Given the description of an element on the screen output the (x, y) to click on. 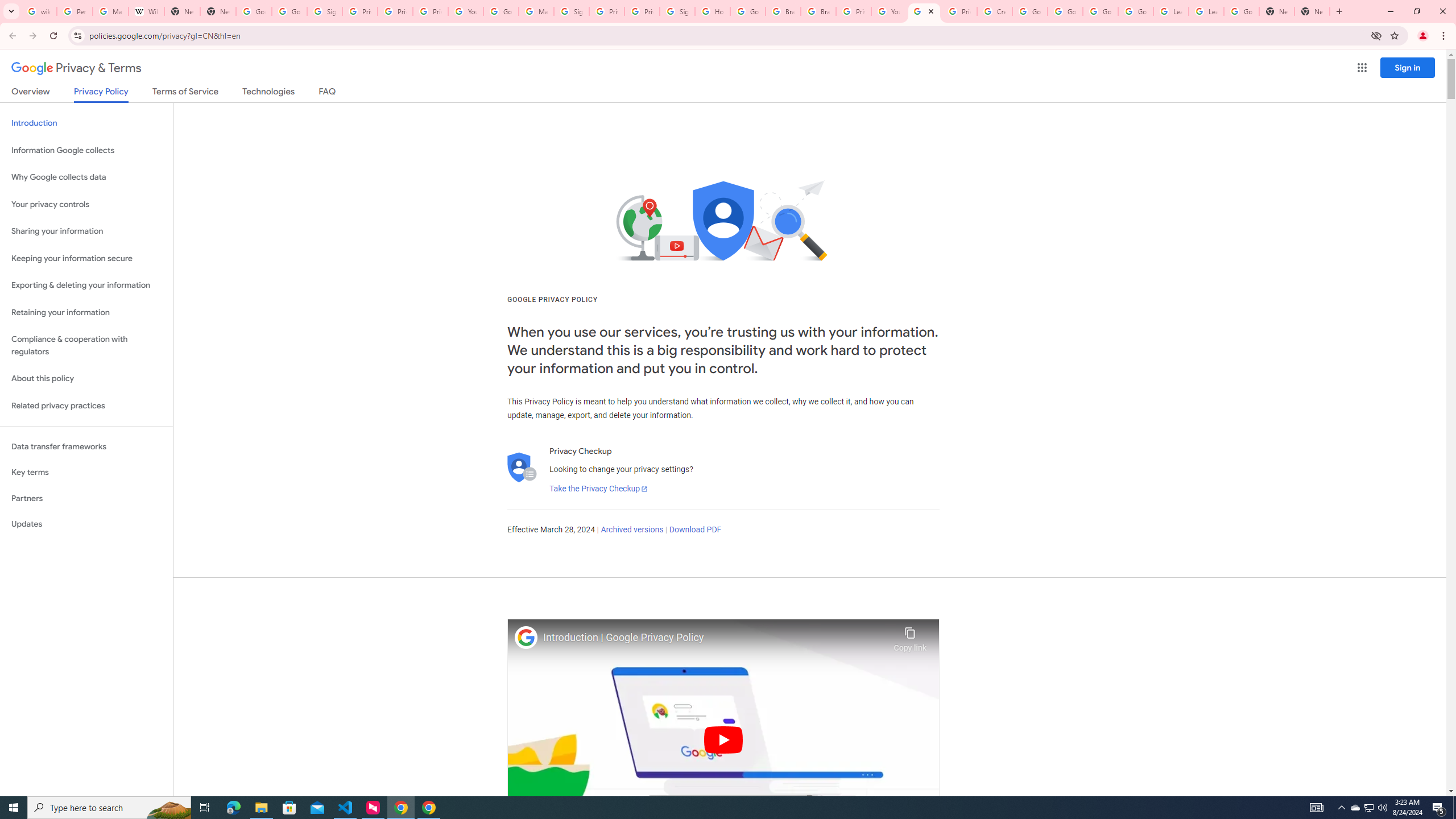
Your privacy controls (86, 204)
Brand Resource Center (817, 11)
Introduction | Google Privacy Policy (715, 637)
Introduction (86, 122)
Google Account Help (501, 11)
Google Account Help (1135, 11)
